Given the description of an element on the screen output the (x, y) to click on. 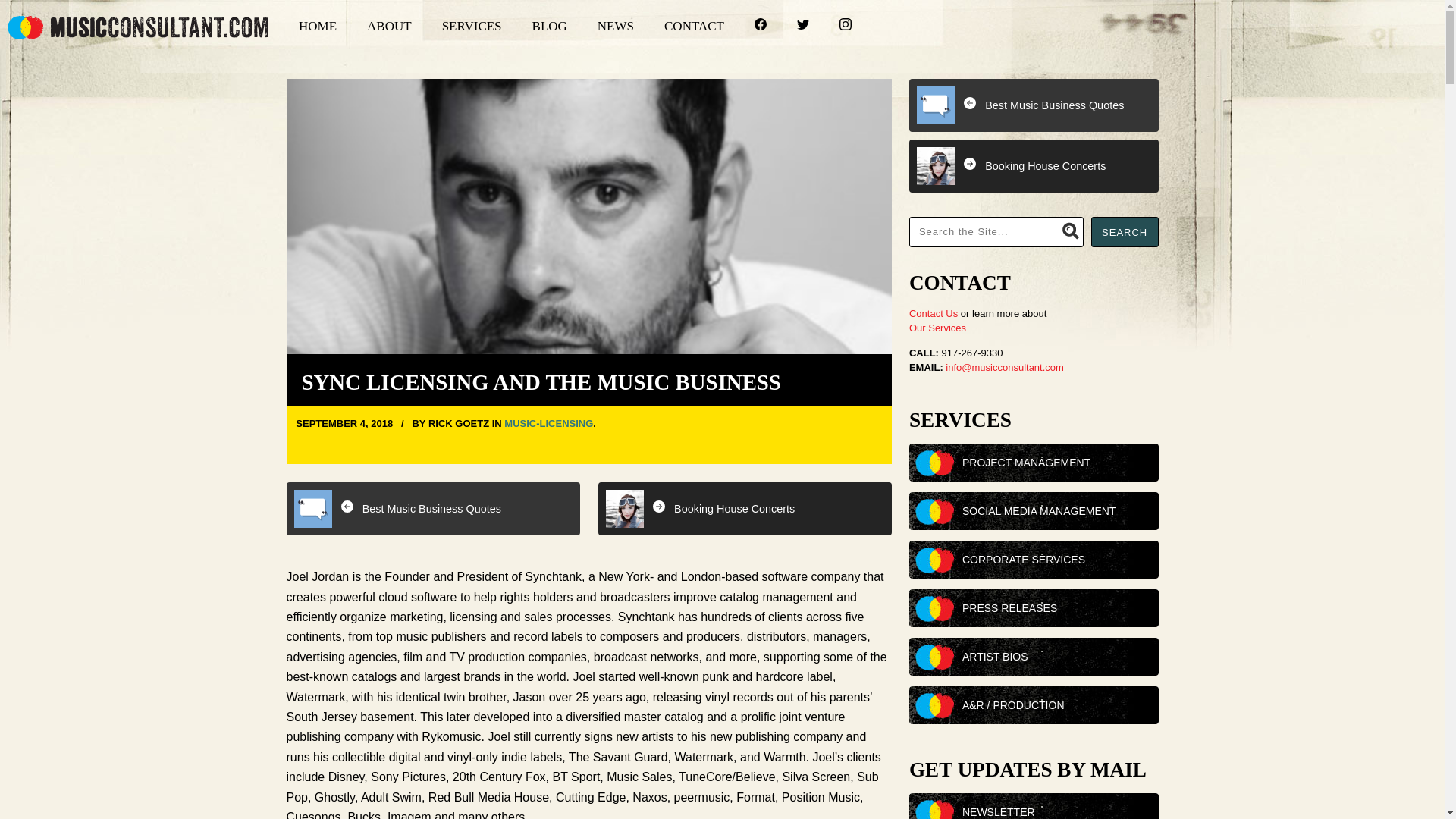
Corporate Marketing Plans (1056, 559)
CONTACT (678, 25)
Twitter (788, 25)
Social Media  Management (1056, 510)
Search (1124, 232)
Booking House Concerts (744, 508)
SERVICES (457, 25)
Project Management (1056, 462)
MUSIC CONSULTANT (137, 27)
MUSIC-LICENSING (547, 423)
